Given the description of an element on the screen output the (x, y) to click on. 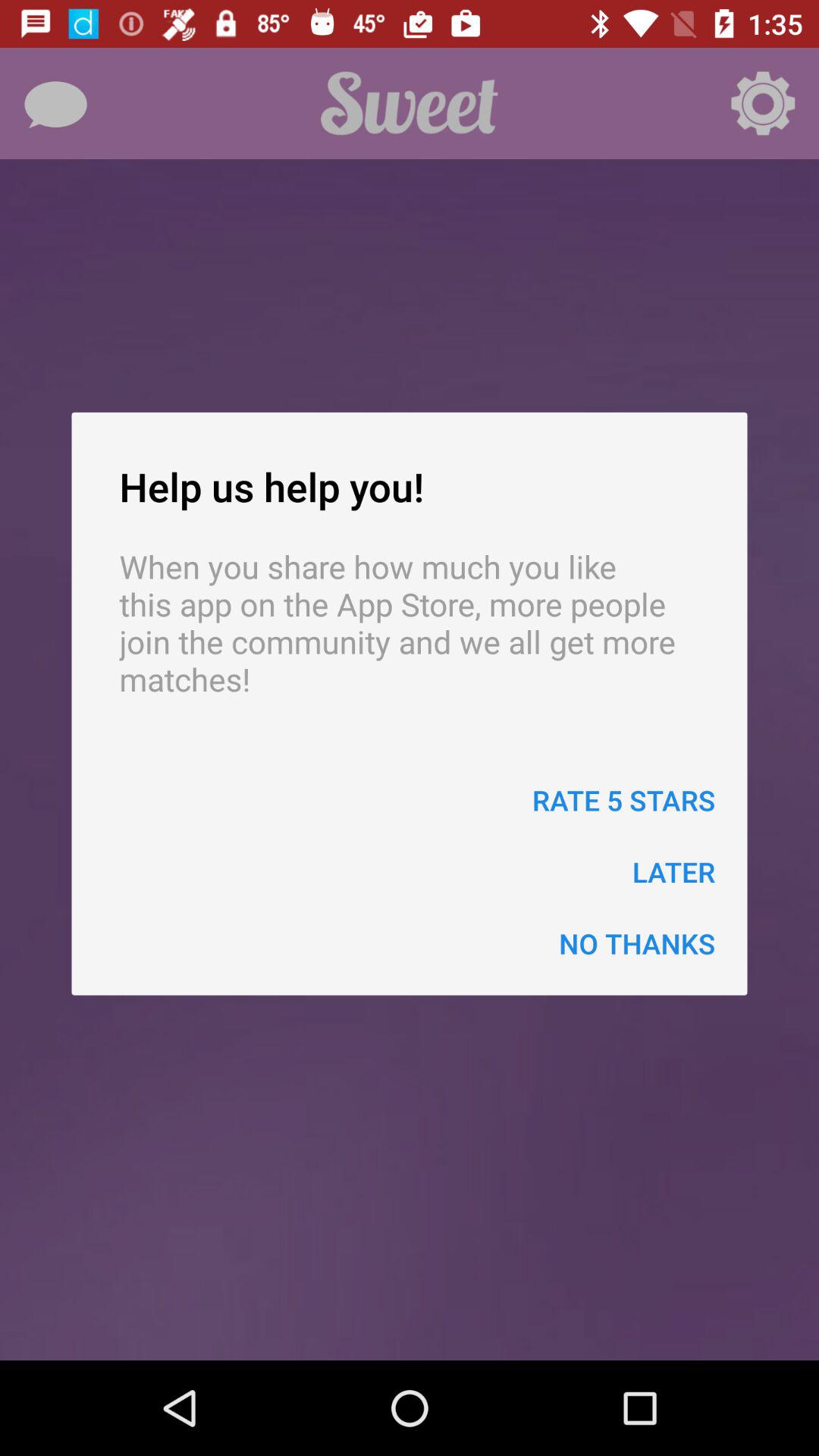
open the no thanks icon (637, 943)
